Given the description of an element on the screen output the (x, y) to click on. 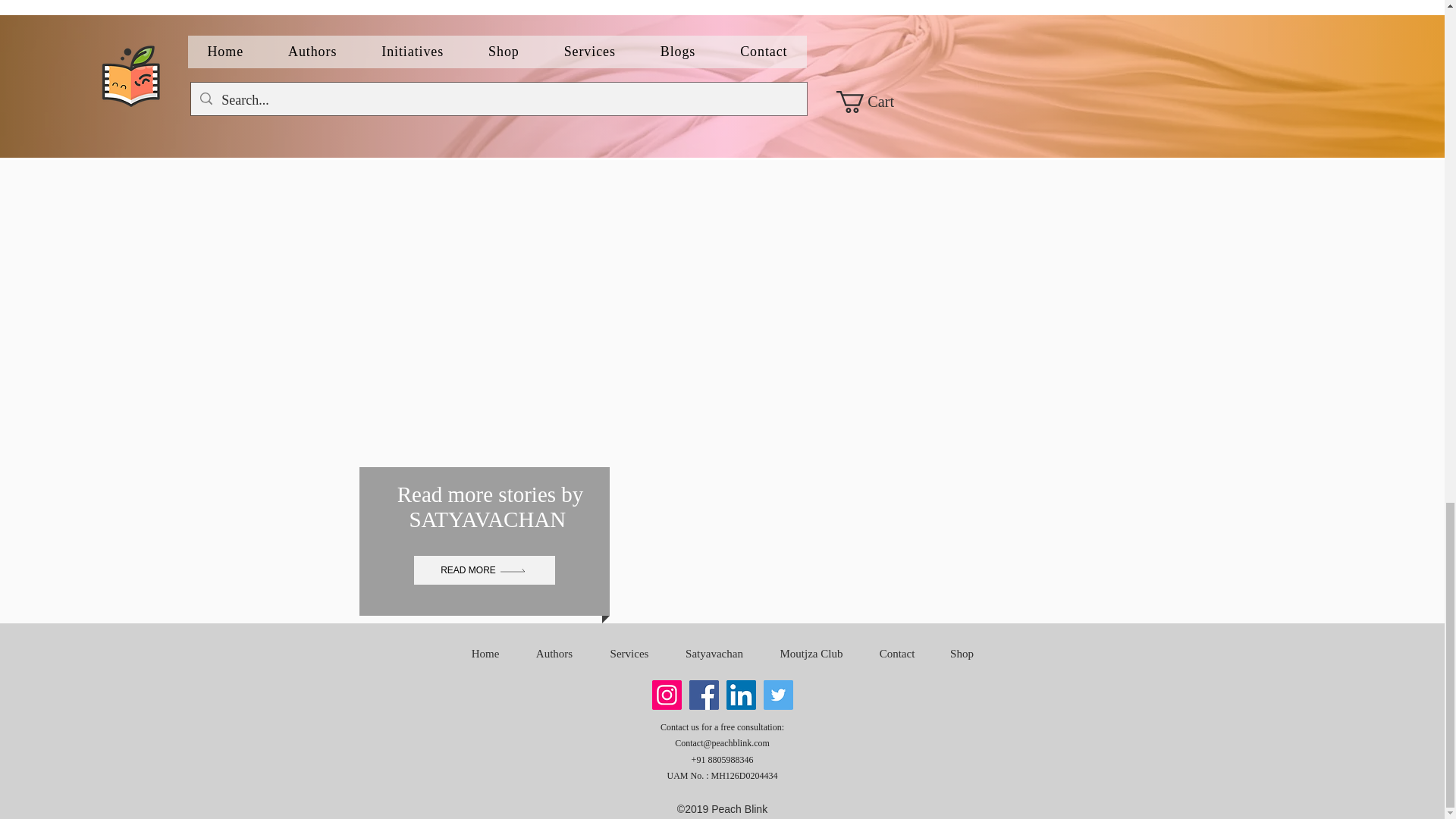
Moutjza Club (811, 653)
Shop (962, 653)
Services (628, 653)
Home (484, 653)
READ MORE (483, 570)
Contact (897, 653)
Satyavachan (713, 653)
Authors (553, 653)
